Given the description of an element on the screen output the (x, y) to click on. 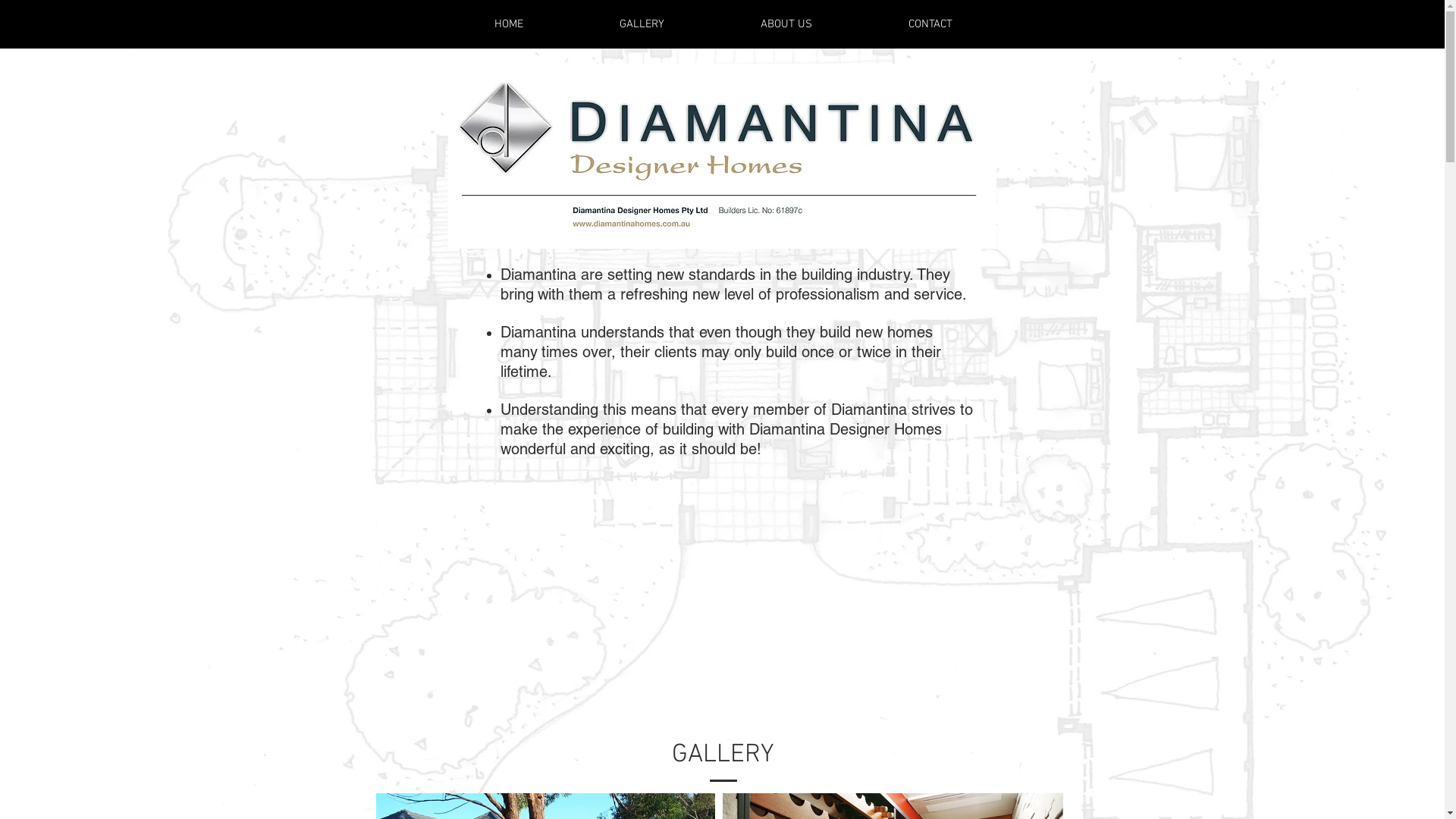
GALLERY Element type: text (641, 24)
ABOUT US Element type: text (786, 24)
CONTACT Element type: text (929, 24)
HOME Element type: text (508, 24)
